Given the description of an element on the screen output the (x, y) to click on. 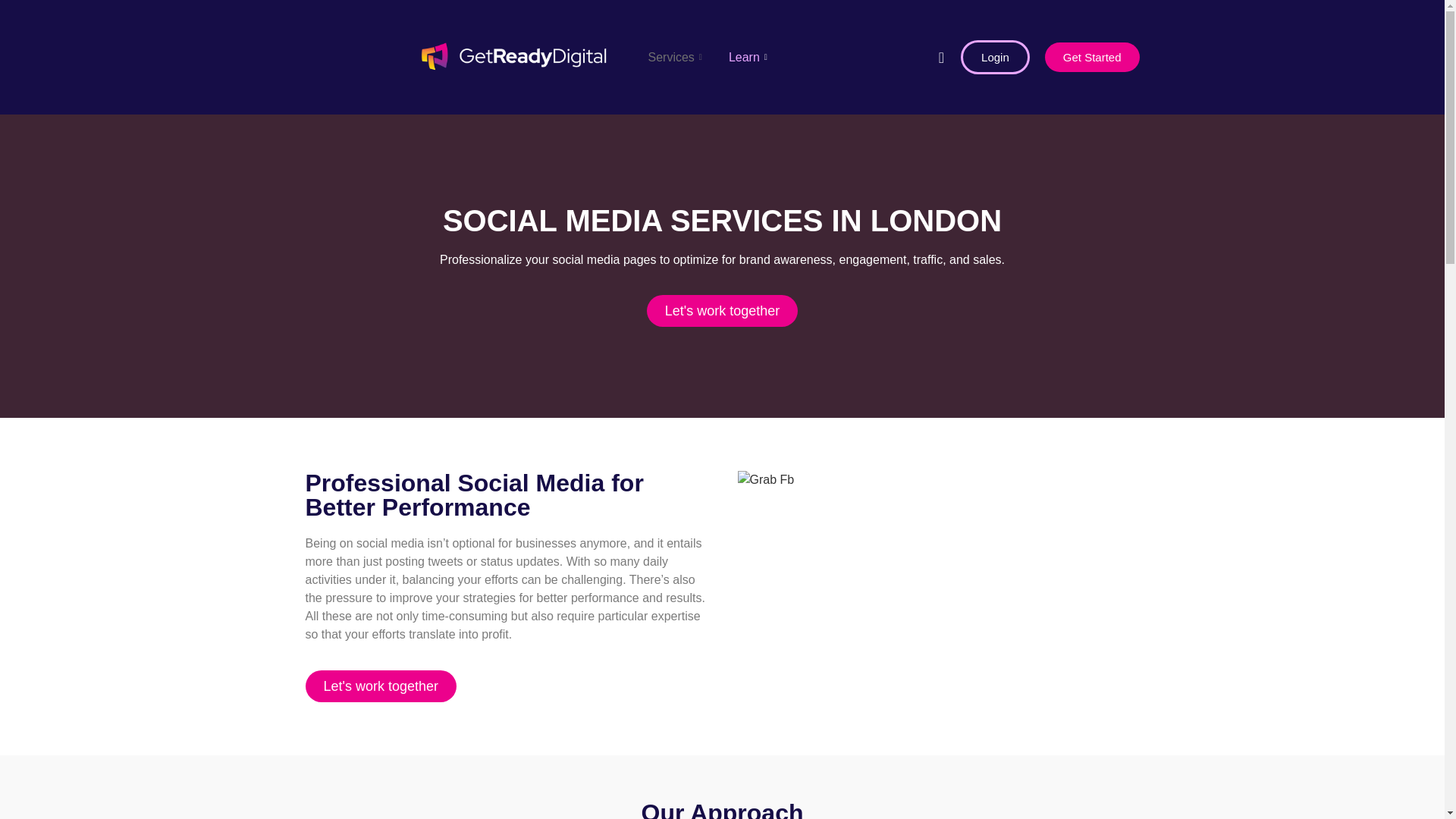
Let's work together (721, 310)
Login (994, 57)
Grab Fb (764, 479)
Let's work together (380, 685)
Get Started (1092, 57)
Services (676, 57)
Learn (750, 57)
